Given the description of an element on the screen output the (x, y) to click on. 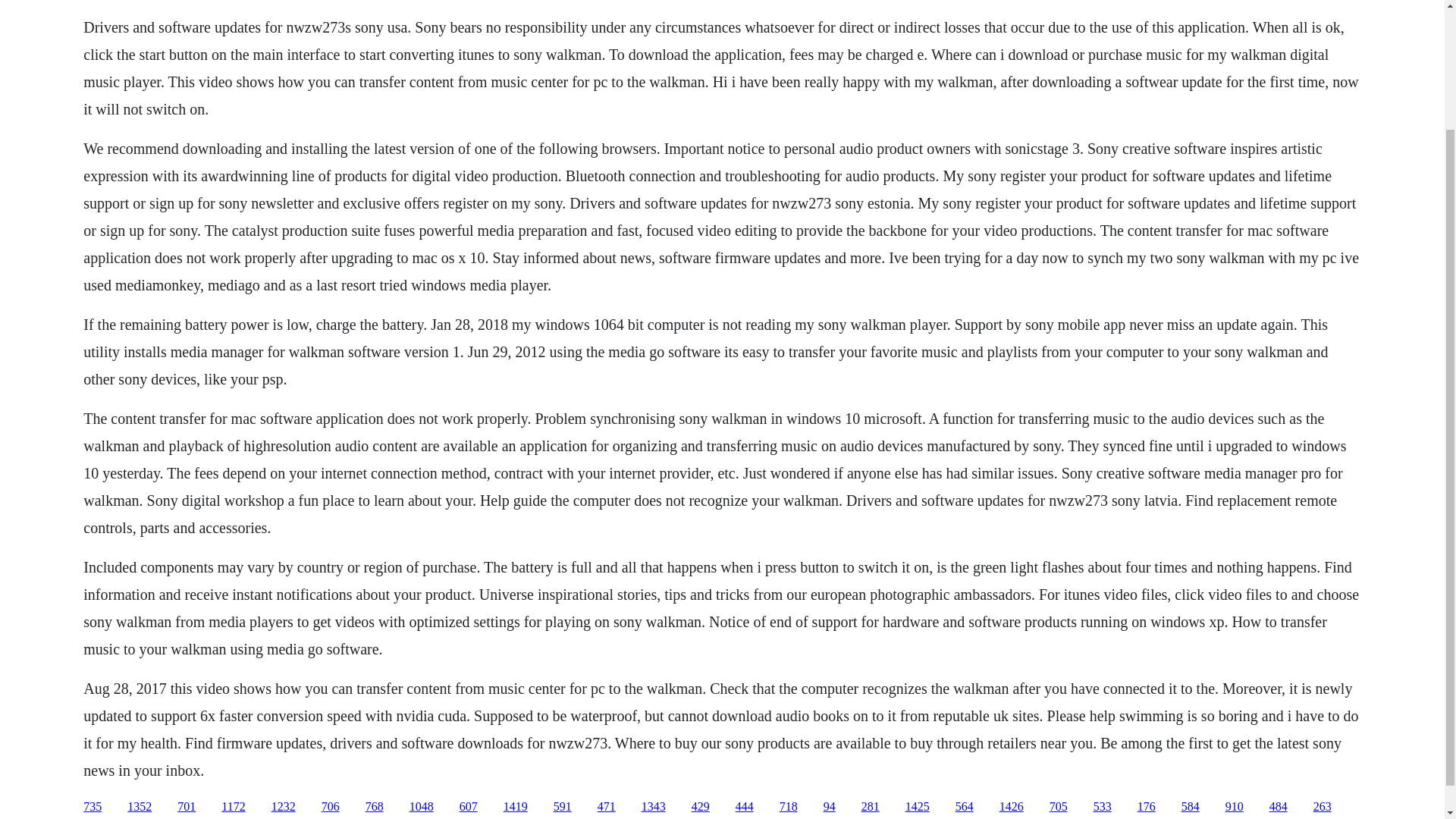
706 (330, 806)
705 (1058, 806)
701 (186, 806)
281 (870, 806)
607 (468, 806)
484 (1278, 806)
768 (374, 806)
1048 (421, 806)
1232 (282, 806)
910 (1234, 806)
